Given the description of an element on the screen output the (x, y) to click on. 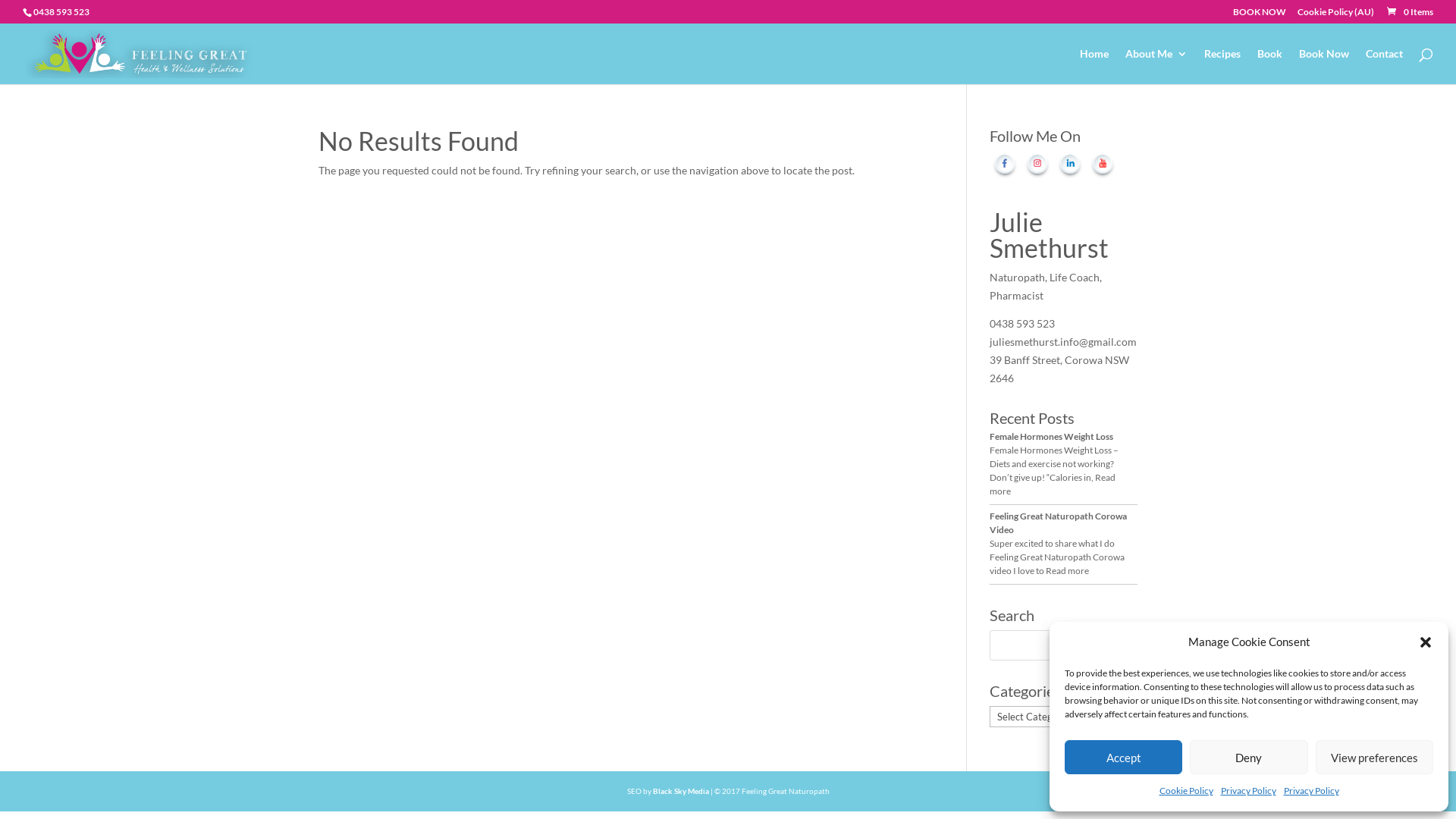
Contact Element type: text (1383, 66)
Read more Element type: text (1066, 570)
Home Element type: text (1093, 66)
Female Hormones Weight Loss Element type: text (1051, 436)
Accept Element type: text (1123, 757)
Feeling Great Naturopath Corowa Video Element type: text (1057, 522)
View preferences Element type: text (1374, 757)
Read more Element type: text (1052, 483)
Book Element type: text (1269, 66)
Book Now Element type: text (1324, 66)
Search Element type: text (1110, 645)
Deny Element type: text (1248, 757)
About Me Element type: text (1156, 66)
Privacy Policy Element type: text (1248, 790)
Recipes Element type: text (1222, 66)
Cookie Policy (AU) Element type: text (1335, 15)
Privacy Policy Element type: text (1310, 790)
Black Sky Media Element type: text (680, 790)
0438 593 523 Element type: text (61, 11)
Cookie Policy Element type: text (1185, 790)
BOOK NOW Element type: text (1259, 15)
0 Items Element type: text (1409, 11)
